Given the description of an element on the screen output the (x, y) to click on. 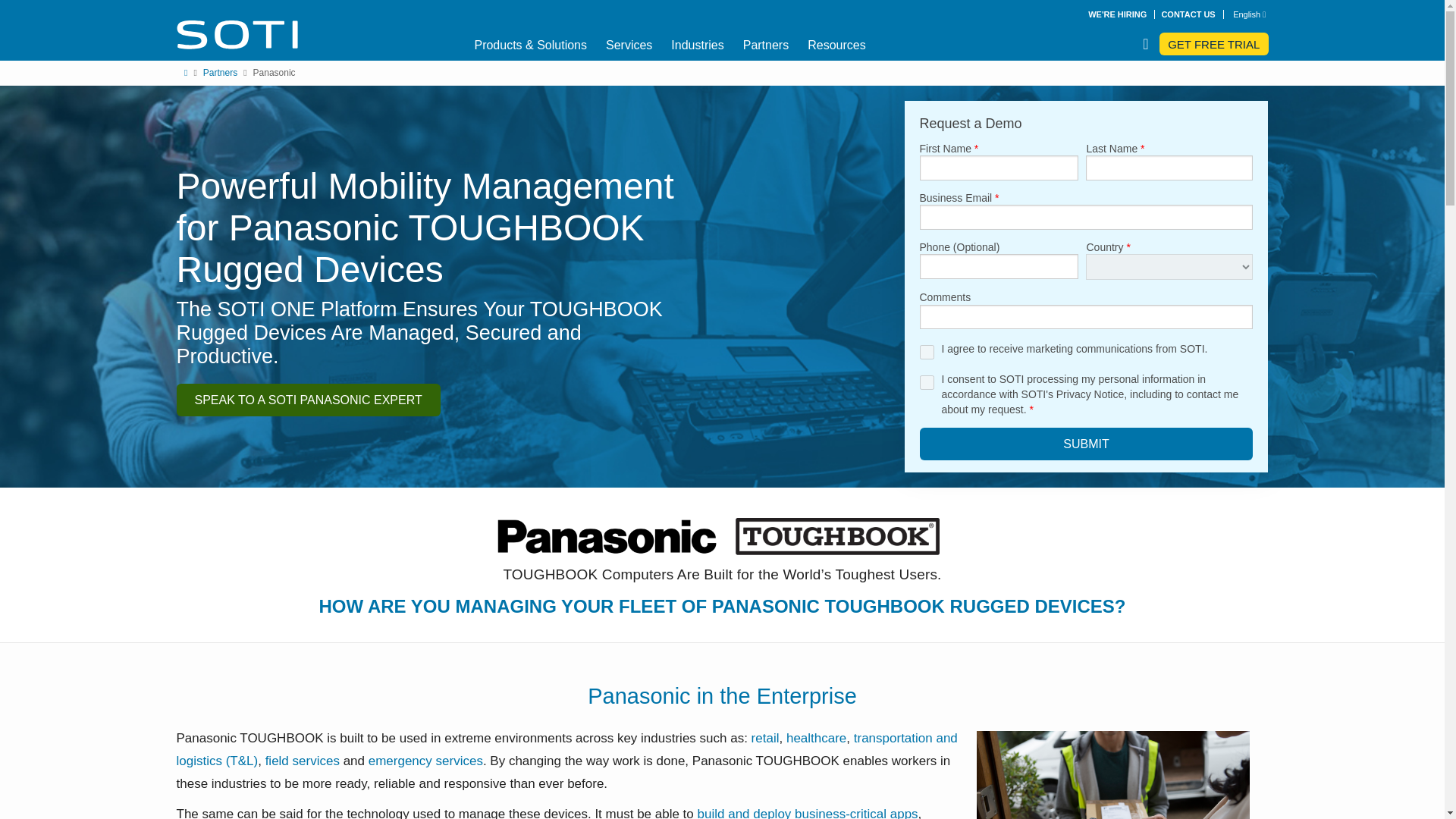
Submit (1085, 443)
SOTI INC (236, 34)
false (925, 382)
false (925, 351)
